Given the description of an element on the screen output the (x, y) to click on. 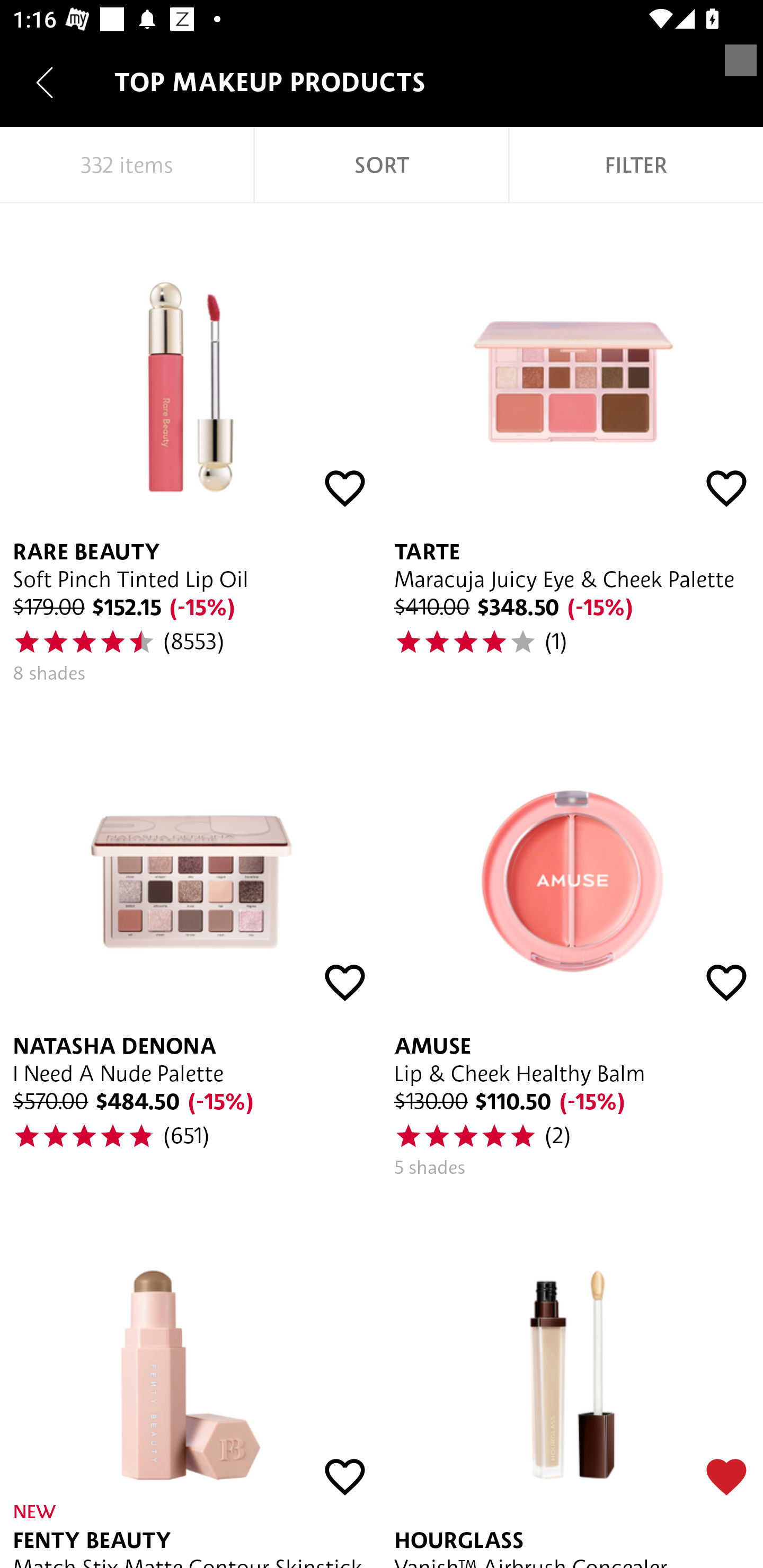
Navigate up (44, 82)
SORT (381, 165)
FILTER (636, 165)
HOURGLASS Vanish™ Airbrush Concealer (572, 1379)
